Given the description of an element on the screen output the (x, y) to click on. 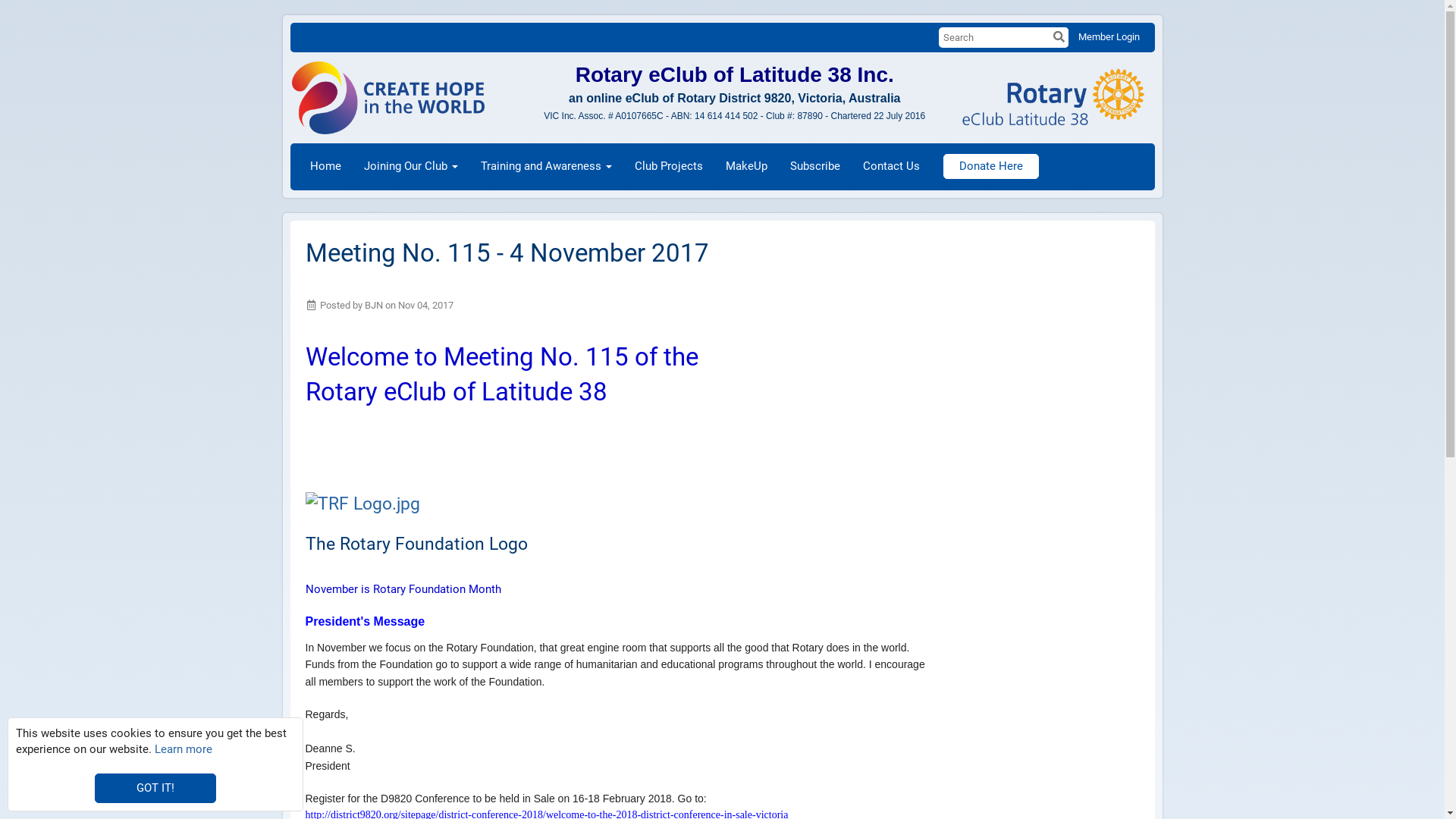
Joining Our Club Element type: text (409, 166)
Subscribe Element type: text (814, 166)
Member Login Element type: text (1108, 36)
Training and Awareness Element type: text (545, 166)
GOT IT! Element type: text (155, 788)
MakeUp Element type: text (746, 166)
Learn more Element type: text (183, 749)
Donate Here Element type: text (990, 166)
Club Projects Element type: text (668, 166)
Contact Us Element type: text (890, 166)
Home Element type: text (325, 166)
